Given the description of an element on the screen output the (x, y) to click on. 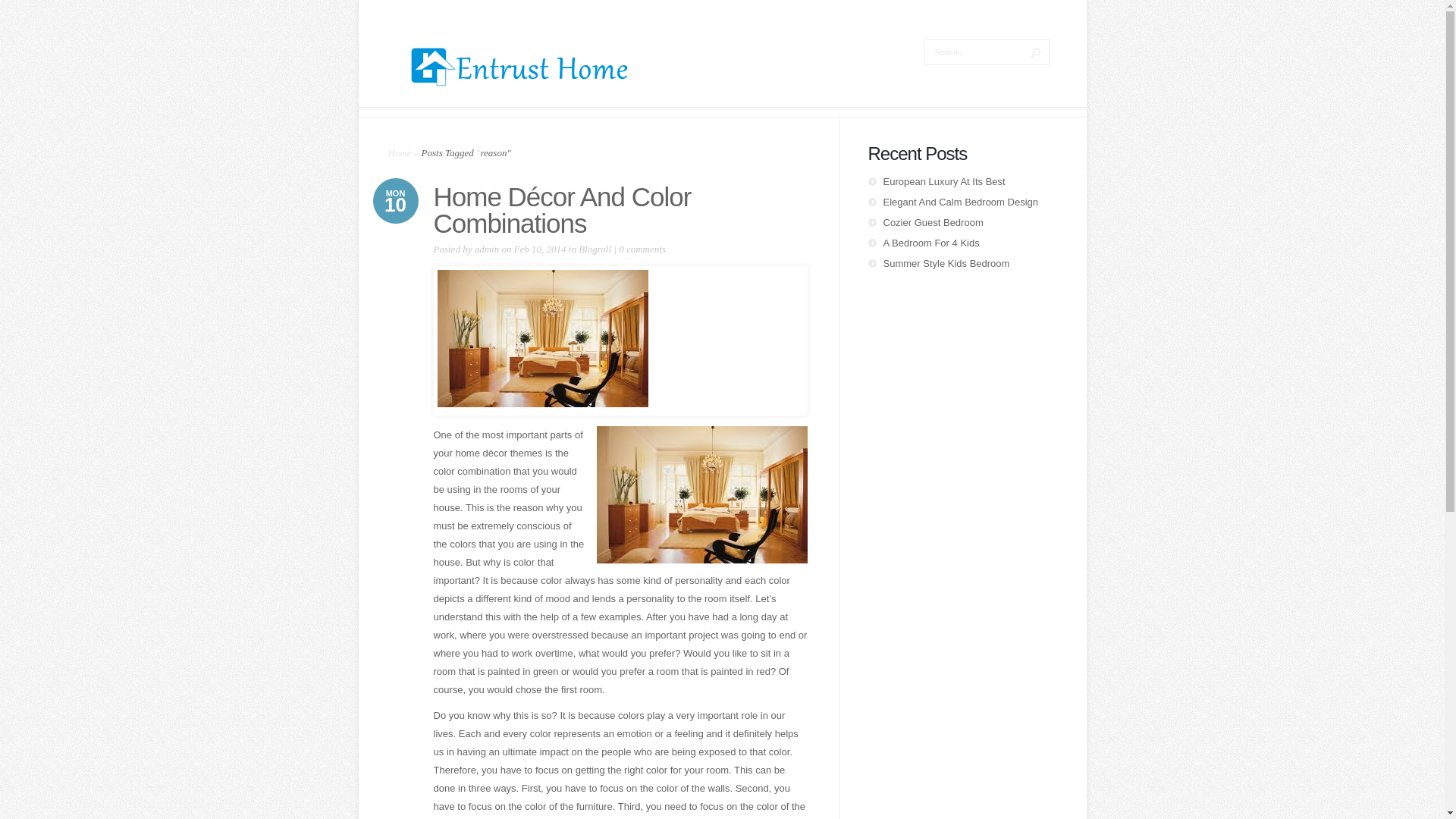
Cozier Guest Bedroom (932, 222)
A Bedroom For 4 Kids (930, 242)
Summer Style Kids Bedroom (945, 263)
Elegant And Calm Bedroom Design (960, 202)
admin (486, 248)
Search... (974, 51)
Posts by admin (486, 248)
European Luxury At Its Best (943, 181)
Blogroll (594, 248)
0 comments (641, 248)
